Given the description of an element on the screen output the (x, y) to click on. 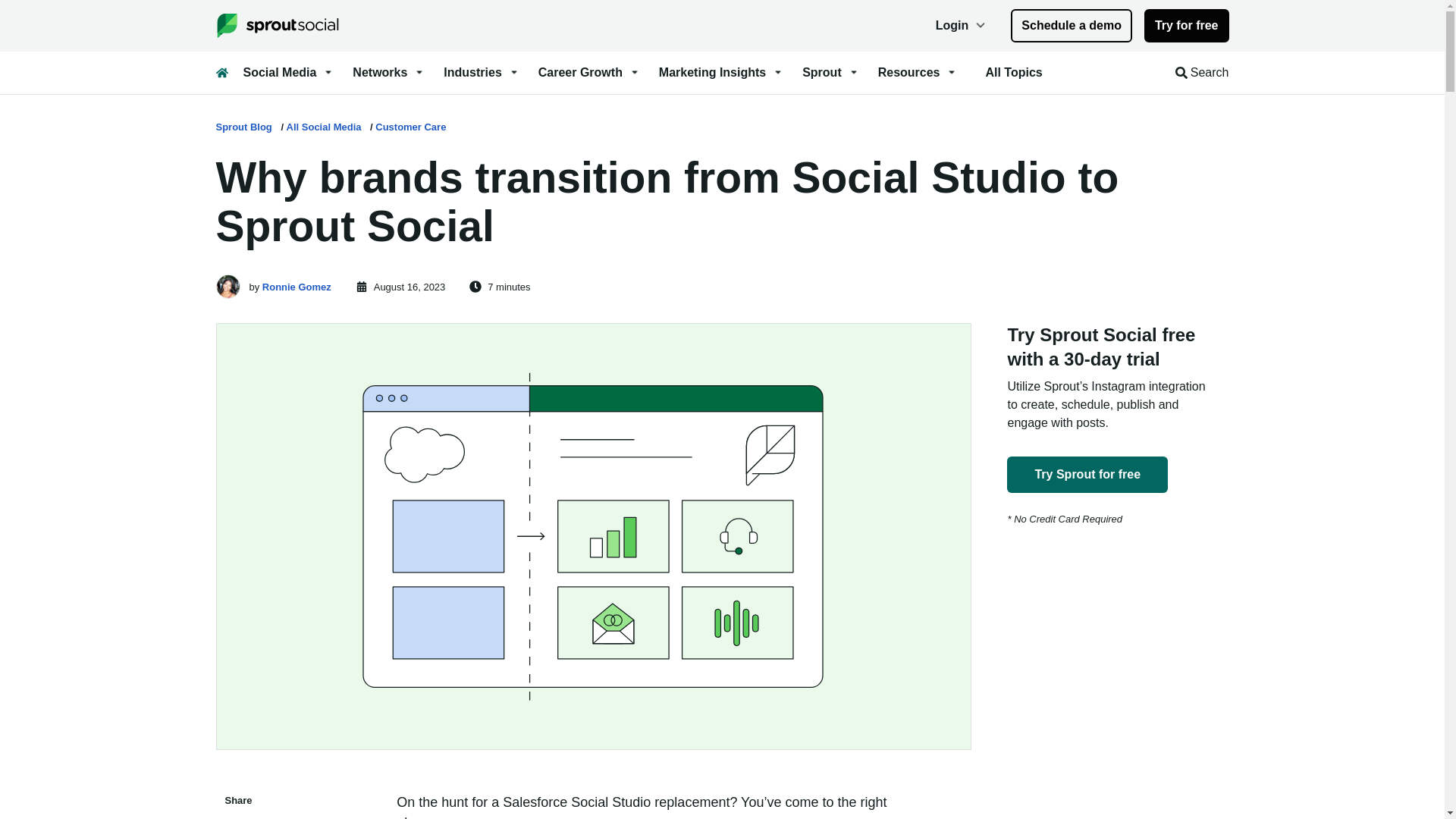
Blog Home (221, 72)
Open Career Growth menu (589, 72)
Login (961, 25)
Open Resources menu (917, 72)
Sprout Social (282, 25)
Open Sprout menu (831, 72)
Open Social Media menu (288, 72)
Schedule a demo (1071, 25)
Networks (388, 72)
Open Networks menu (388, 72)
